Given the description of an element on the screen output the (x, y) to click on. 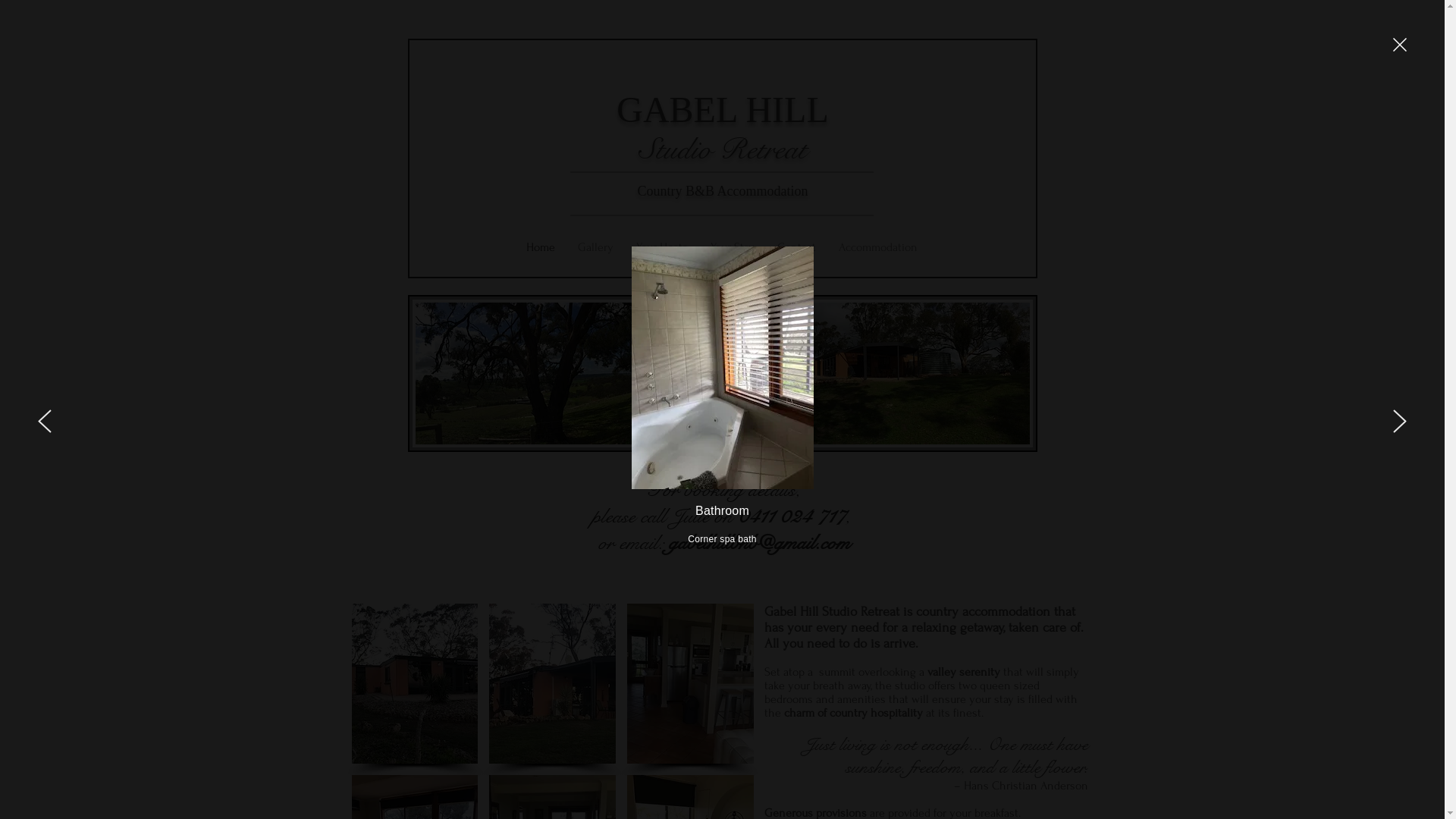
Home Element type: text (539, 246)
IMG_0967.JPG Element type: hover (722, 372)
Accommodation Element type: text (877, 246)
Gallery Element type: text (594, 246)
Contact Element type: text (796, 246)
Your Stay Element type: text (732, 246)
Your Hosts Element type: text (661, 246)
gabelhillbnb@gmail.com Element type: text (759, 542)
